Given the description of an element on the screen output the (x, y) to click on. 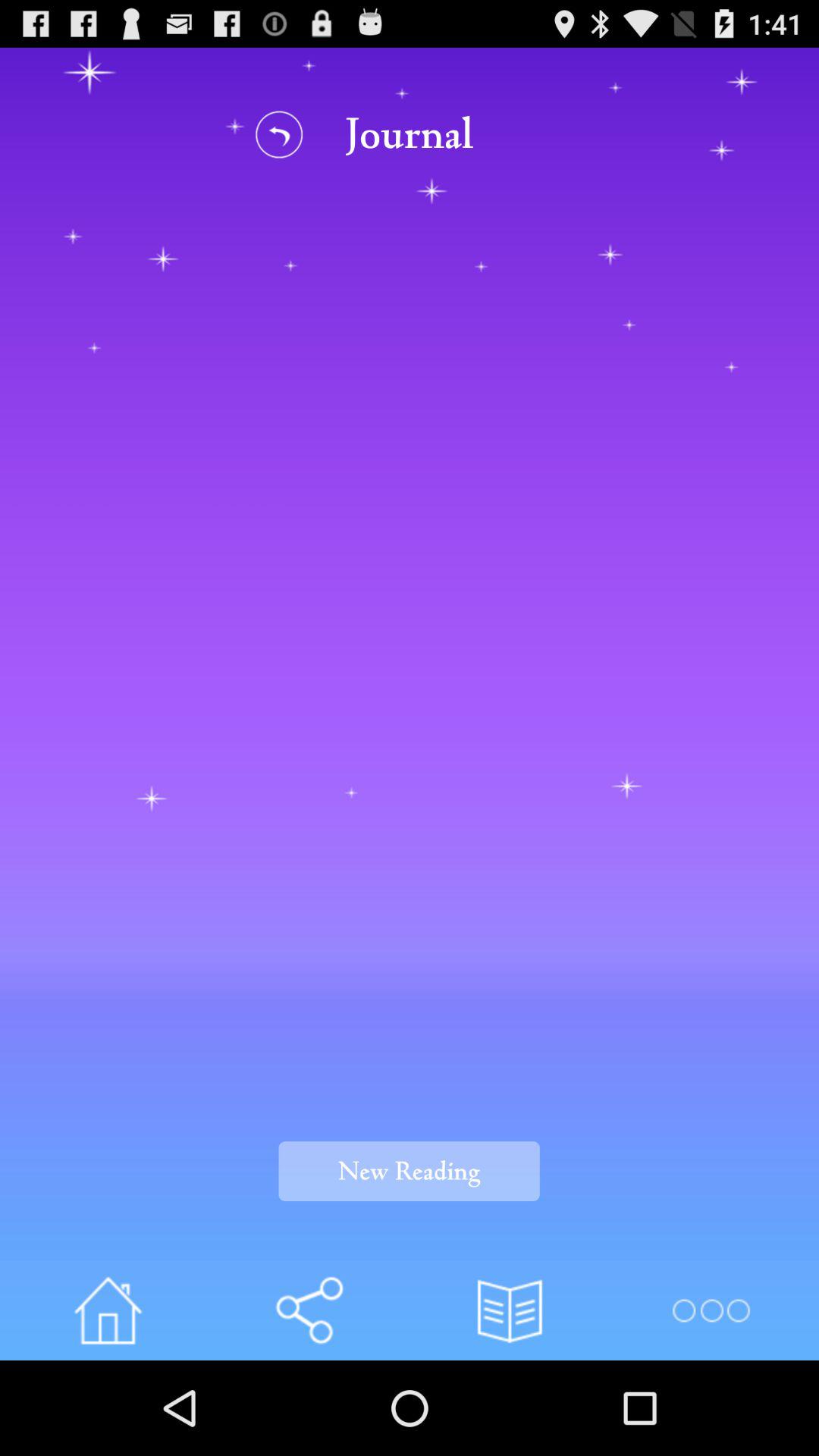
home button (107, 1310)
